Given the description of an element on the screen output the (x, y) to click on. 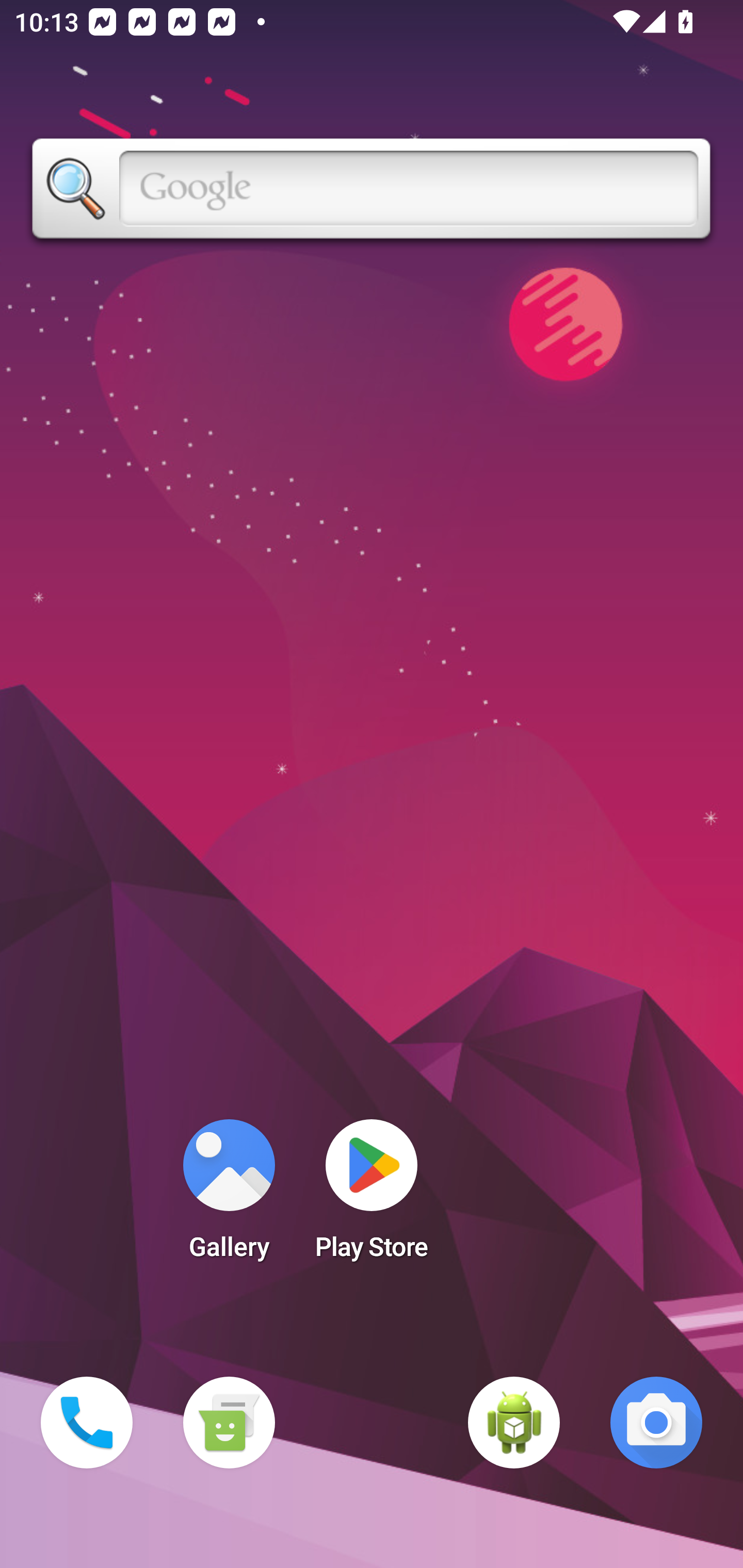
Gallery (228, 1195)
Play Store (371, 1195)
Phone (86, 1422)
Messaging (228, 1422)
WebView Browser Tester (513, 1422)
Camera (656, 1422)
